Given the description of an element on the screen output the (x, y) to click on. 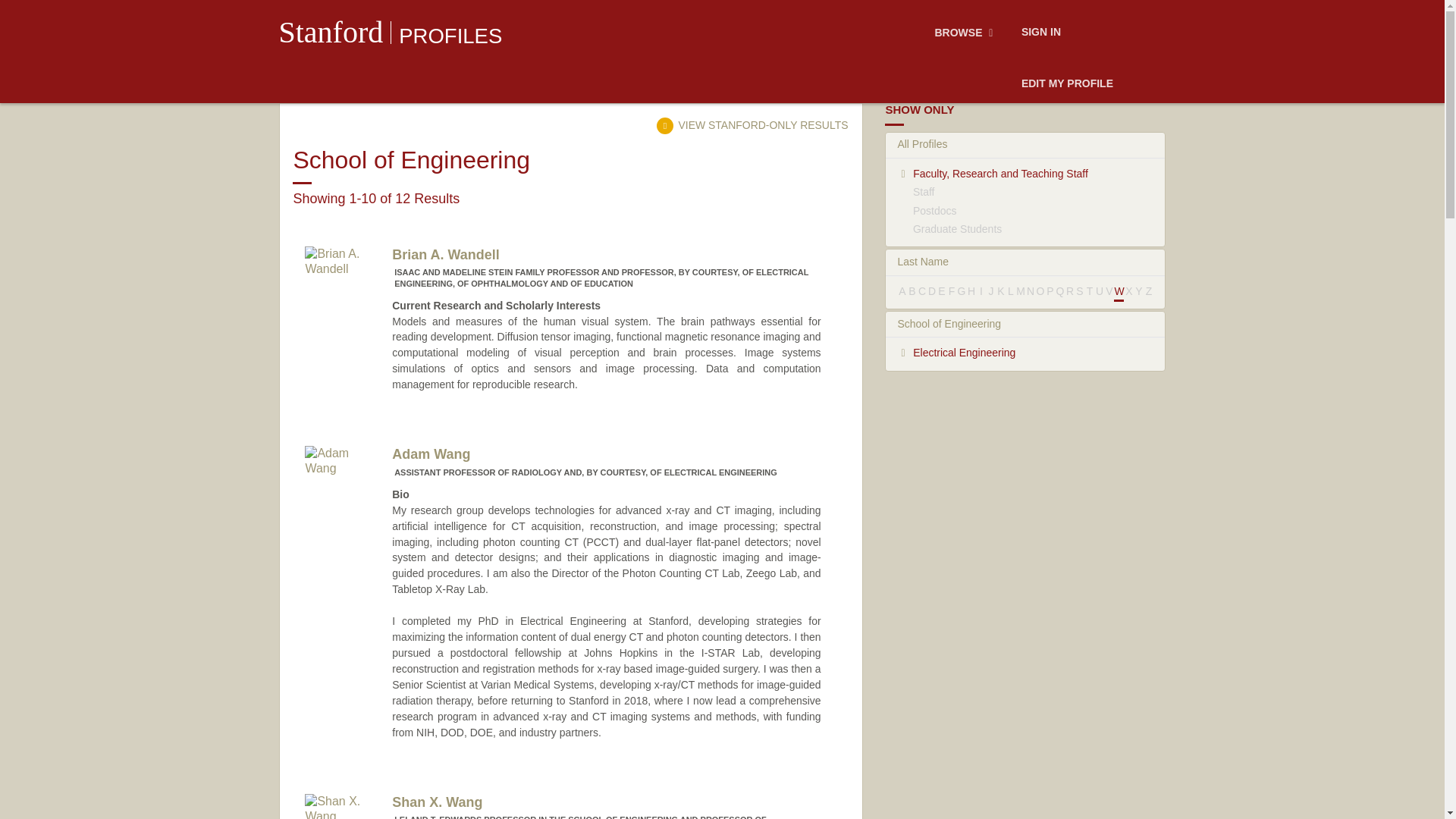
BROWSE (966, 32)
Stanford (331, 32)
SIGN IN (1040, 32)
PROFILES (450, 35)
VIEW STANFORD-ONLY RESULTS (751, 124)
EDIT MY PROFILE (1067, 84)
